Given the description of an element on the screen output the (x, y) to click on. 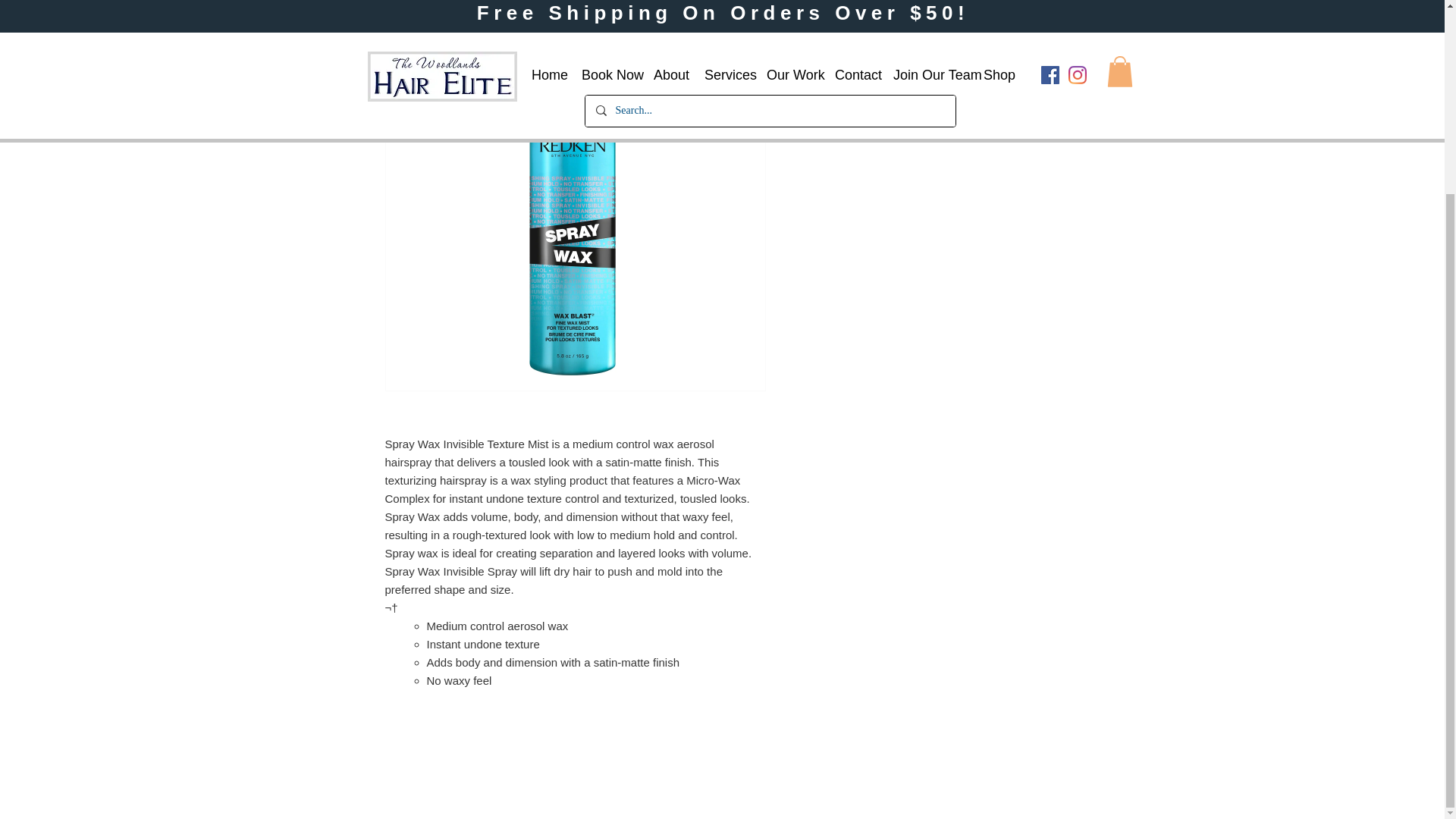
Out of Stock (924, 95)
